Given the description of an element on the screen output the (x, y) to click on. 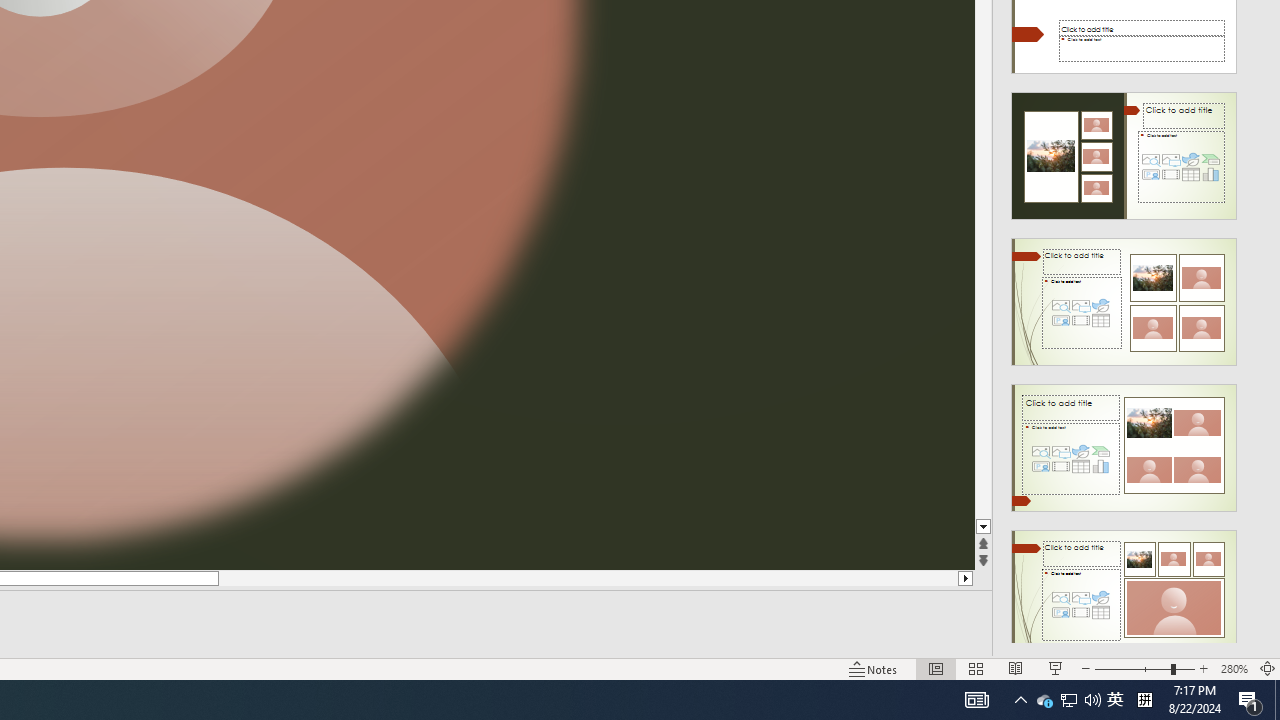
Zoom to Fit  (1267, 668)
Zoom Out (1132, 668)
Normal (936, 668)
Reading View (1015, 668)
Zoom 280% (1234, 668)
Slide Sorter (975, 668)
Zoom In (1204, 668)
Notes  (874, 668)
Page down (983, 283)
Class: NetUIImage (1124, 593)
Design Idea (1124, 587)
Zoom (1144, 668)
Line down (983, 527)
Slide Show (1055, 668)
